Given the description of an element on the screen output the (x, y) to click on. 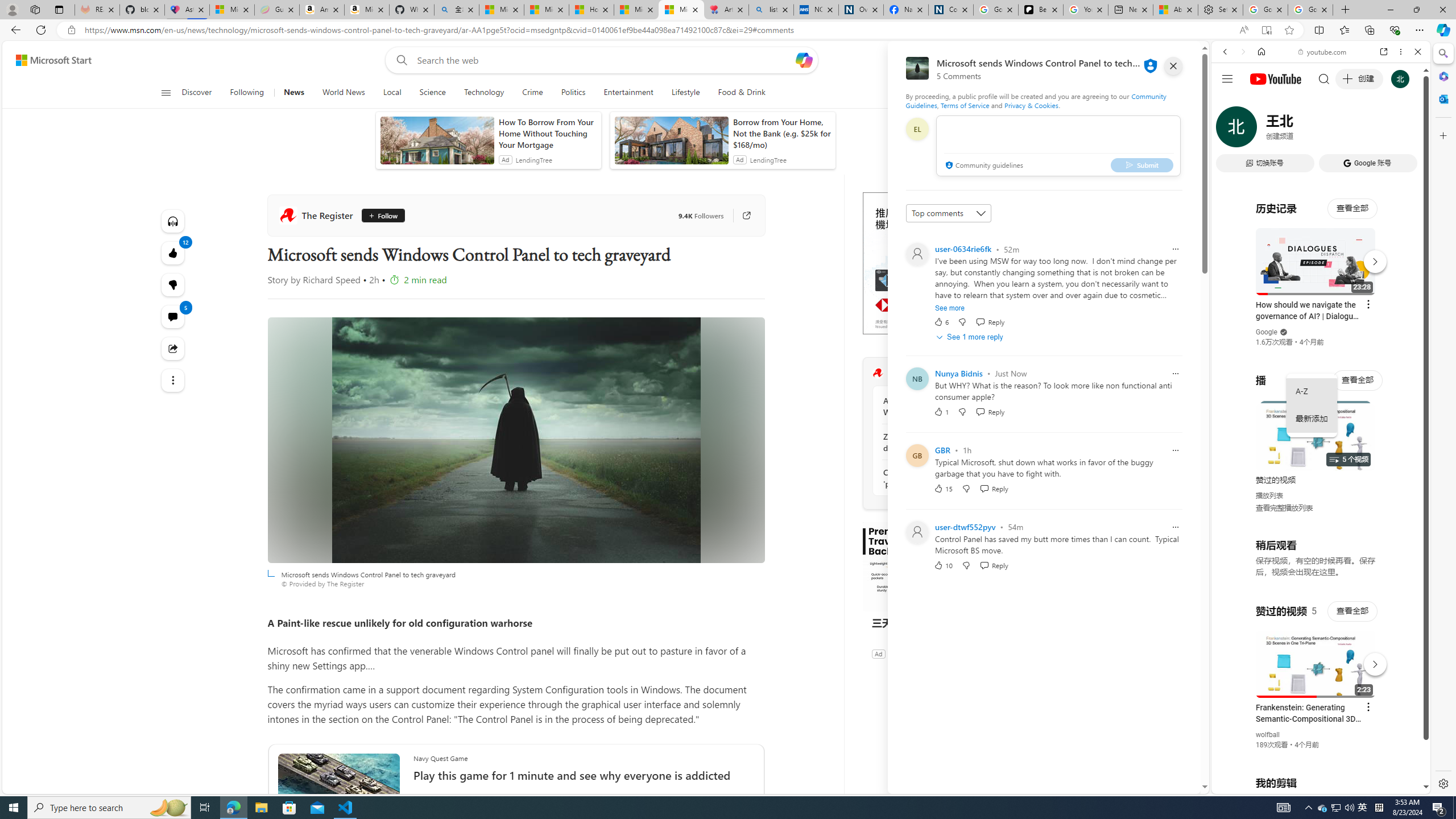
Cookies (950, 9)
Aberdeen, Hong Kong SAR hourly forecast | Microsoft Weather (1175, 9)
Entertainment (627, 92)
Microsoft sends Windows Control Panel to tech graveyard (515, 440)
Food & Drink (737, 92)
Zoom profits up despite CEO's doubts about remote working (944, 441)
